Given the description of an element on the screen output the (x, y) to click on. 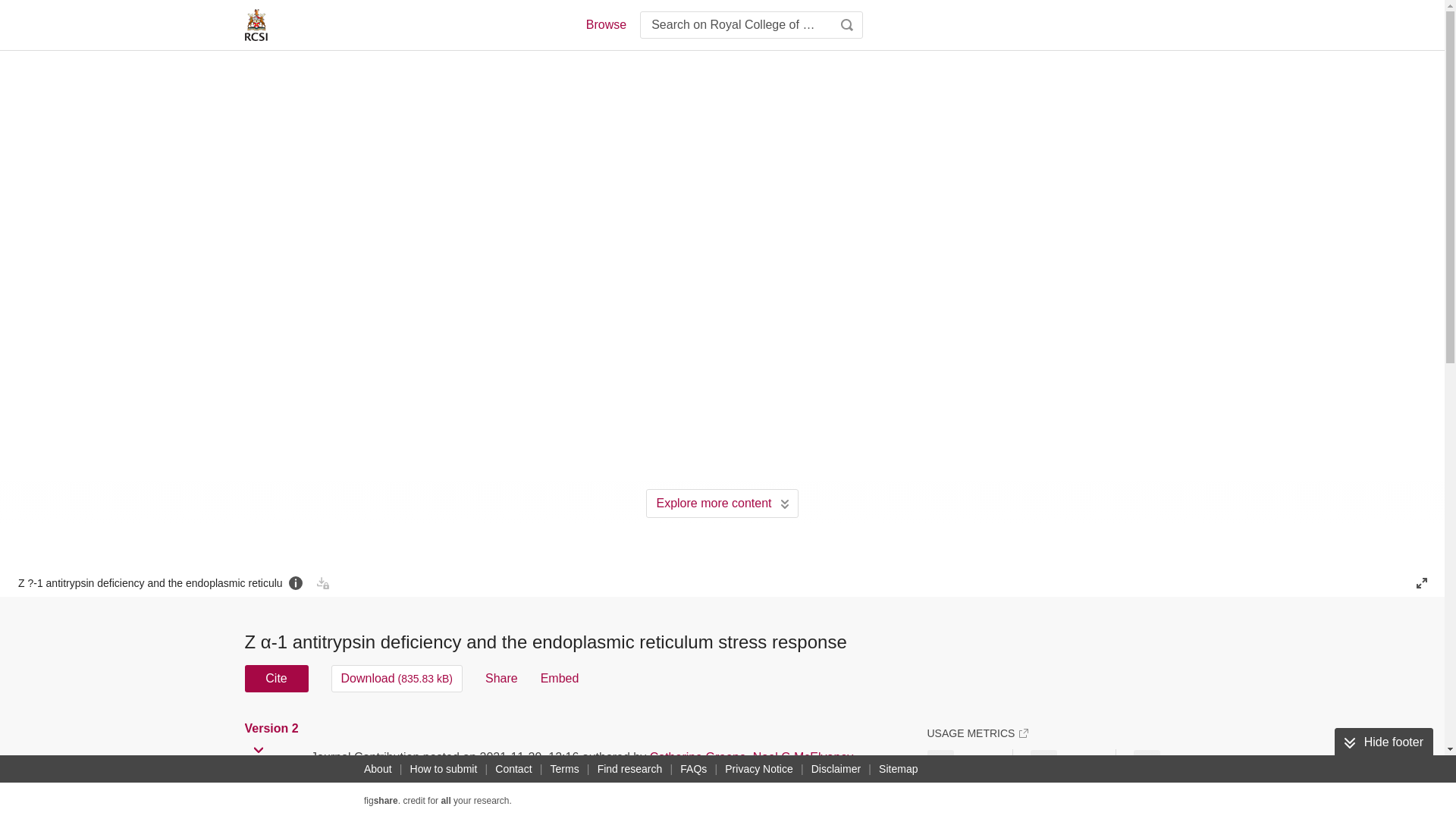
Noel G McElvaney (802, 757)
USAGE METRICS (976, 732)
Cite (275, 678)
Catherine Greene (697, 757)
Embed (559, 678)
Browse (605, 24)
Hide footer (1383, 742)
Explore more content (721, 502)
Share (501, 678)
Version 2 (273, 728)
